Given the description of an element on the screen output the (x, y) to click on. 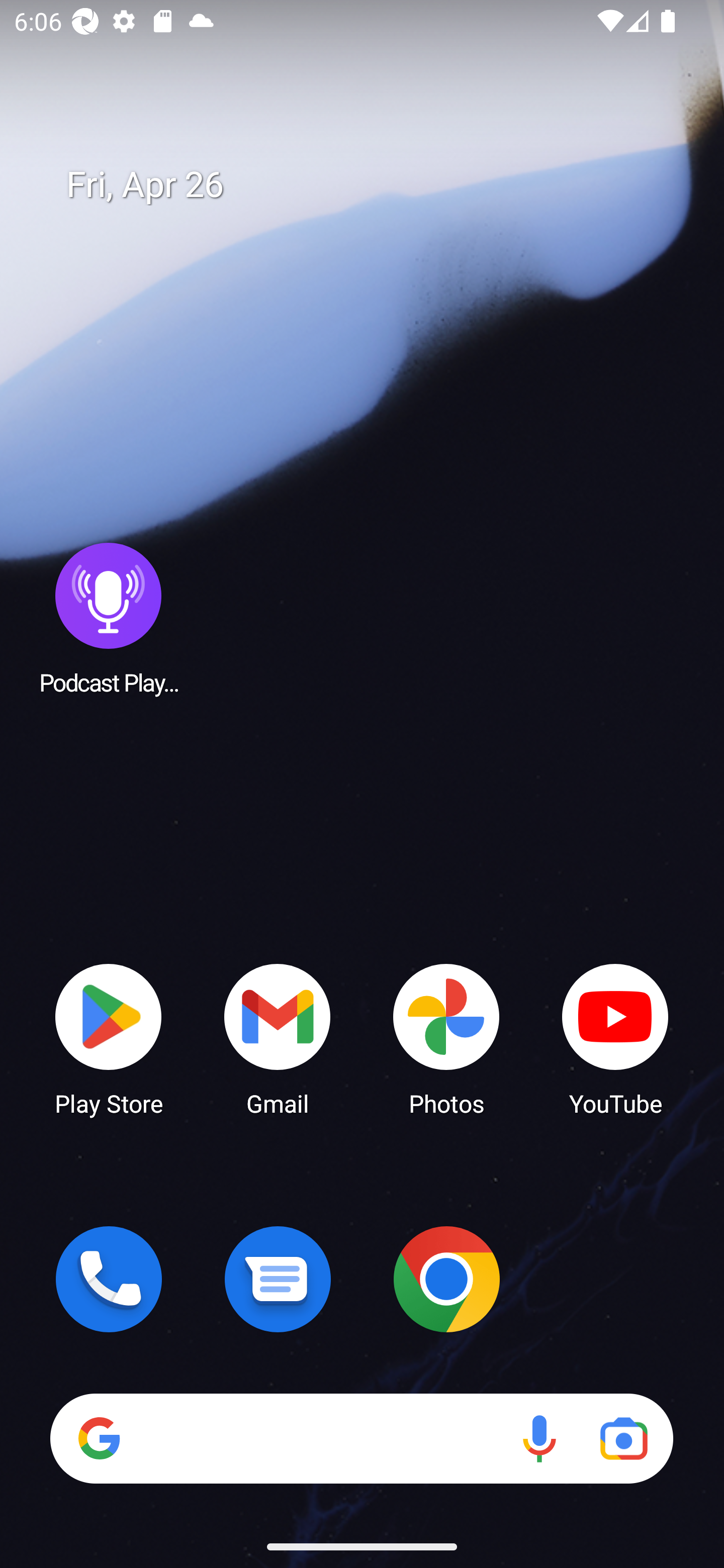
Fri, Apr 26 (375, 184)
Podcast Player (108, 617)
Play Store (108, 1038)
Gmail (277, 1038)
Photos (445, 1038)
YouTube (615, 1038)
Phone (108, 1279)
Messages (277, 1279)
Chrome (446, 1279)
Search Voice search Google Lens (361, 1438)
Voice search (539, 1438)
Google Lens (623, 1438)
